Given the description of an element on the screen output the (x, y) to click on. 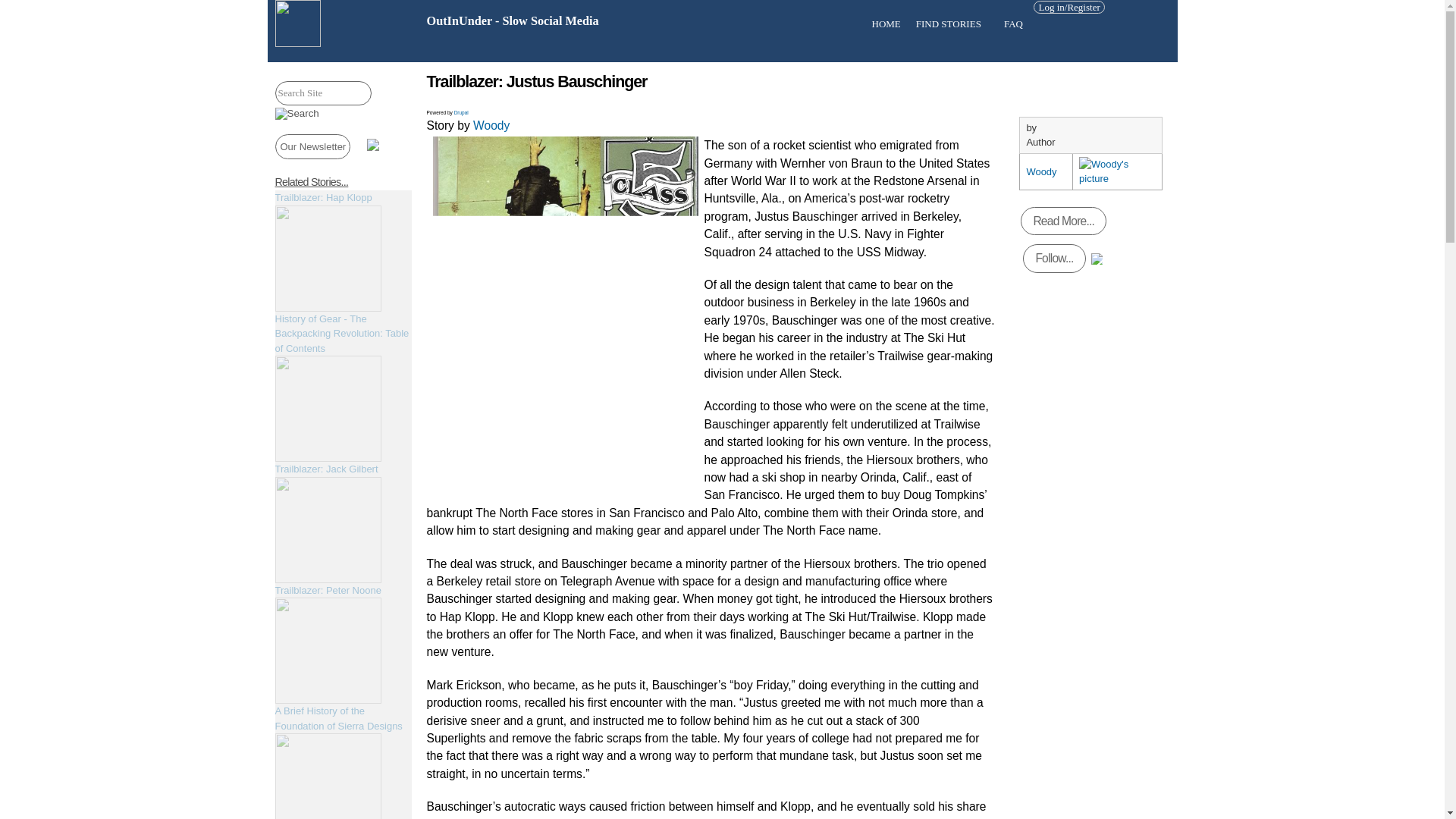
Woody (1041, 171)
Drupal (461, 112)
View user profile. (491, 124)
HOME (885, 24)
Search and Browse for Stories (952, 24)
Home (512, 20)
OutInUnder - Slow Social Media (512, 20)
FAQ (1013, 24)
View user profile. (1041, 171)
Woody (491, 124)
Skip to main content (693, 1)
Frequently Asked Questions (1013, 24)
FIND STORIES (952, 24)
